Given the description of an element on the screen output the (x, y) to click on. 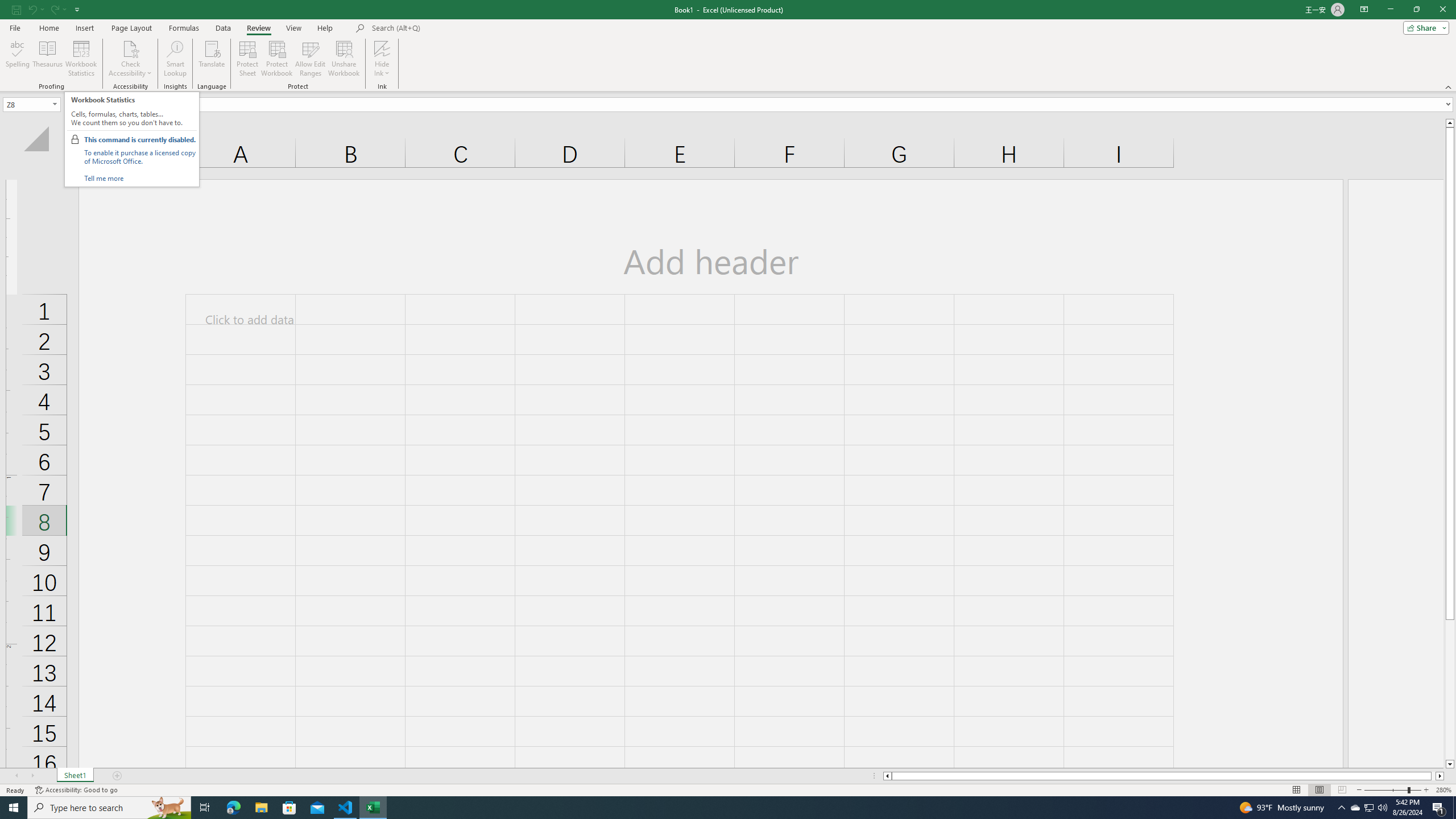
Protect Sheet... (247, 58)
Allow Edit Ranges (310, 58)
Smart Lookup (175, 58)
Workbook Statistics (81, 58)
